Given the description of an element on the screen output the (x, y) to click on. 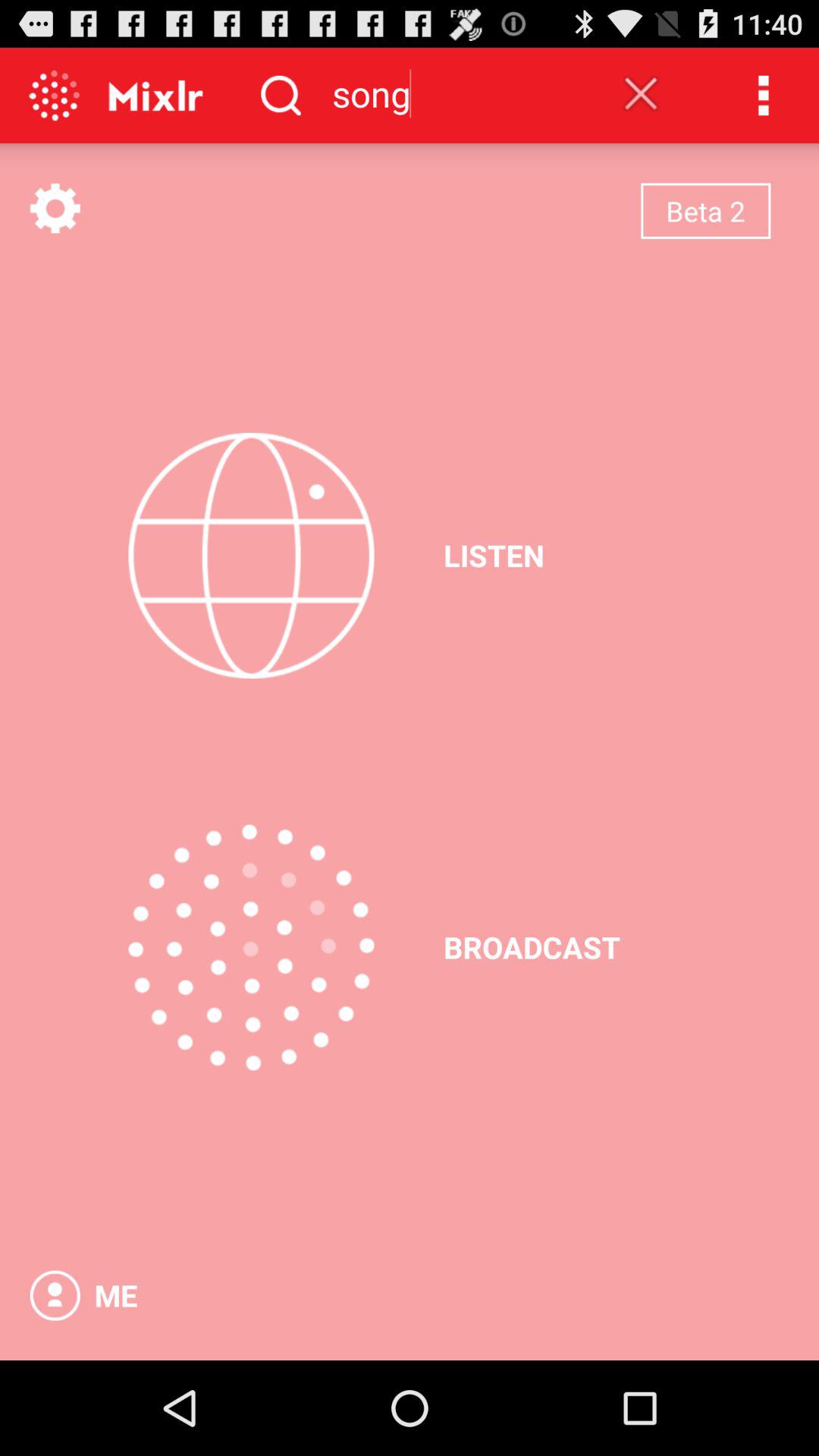
open settings (55, 208)
